Given the description of an element on the screen output the (x, y) to click on. 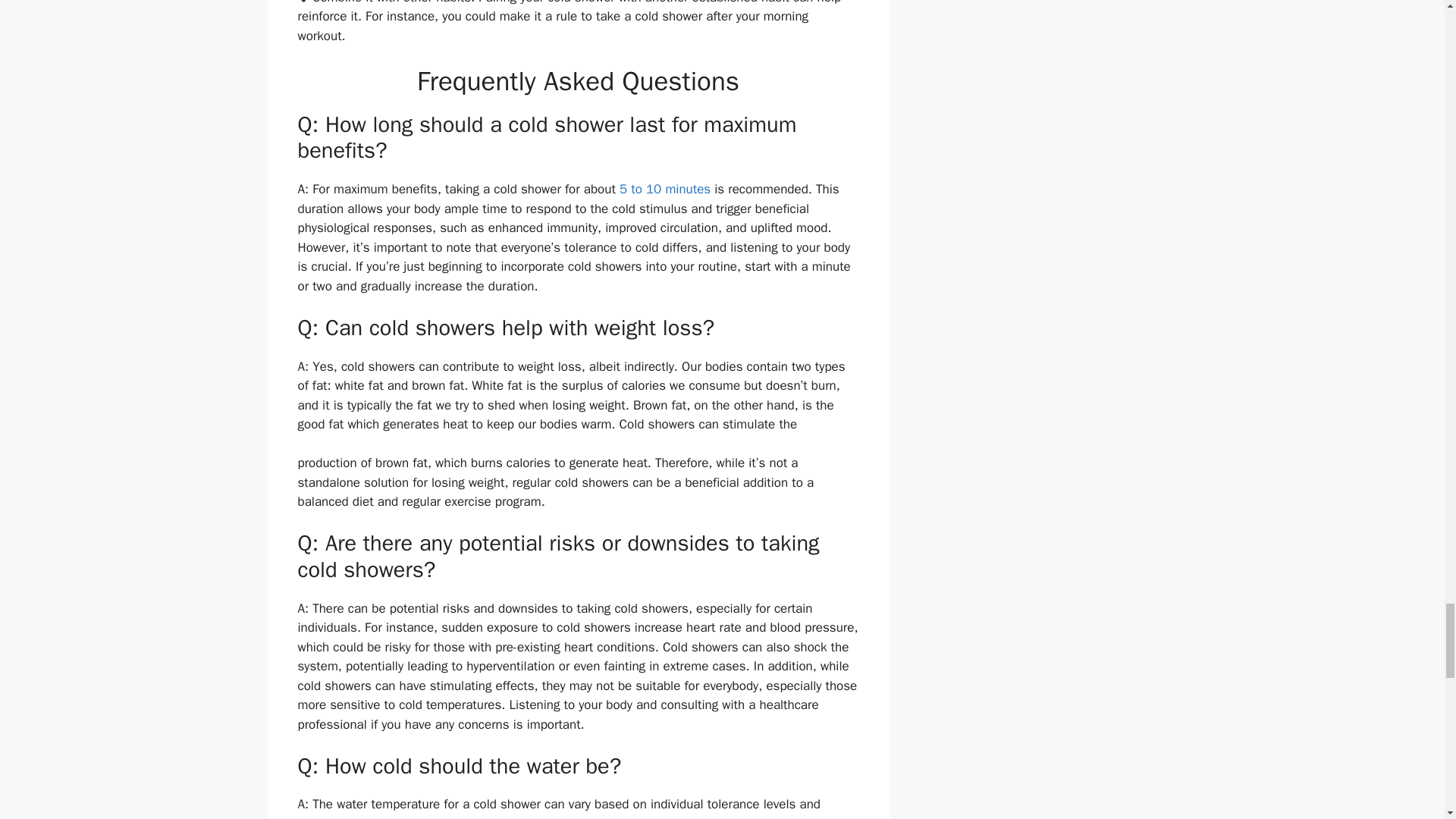
5 to 10 minutes (665, 188)
